Given the description of an element on the screen output the (x, y) to click on. 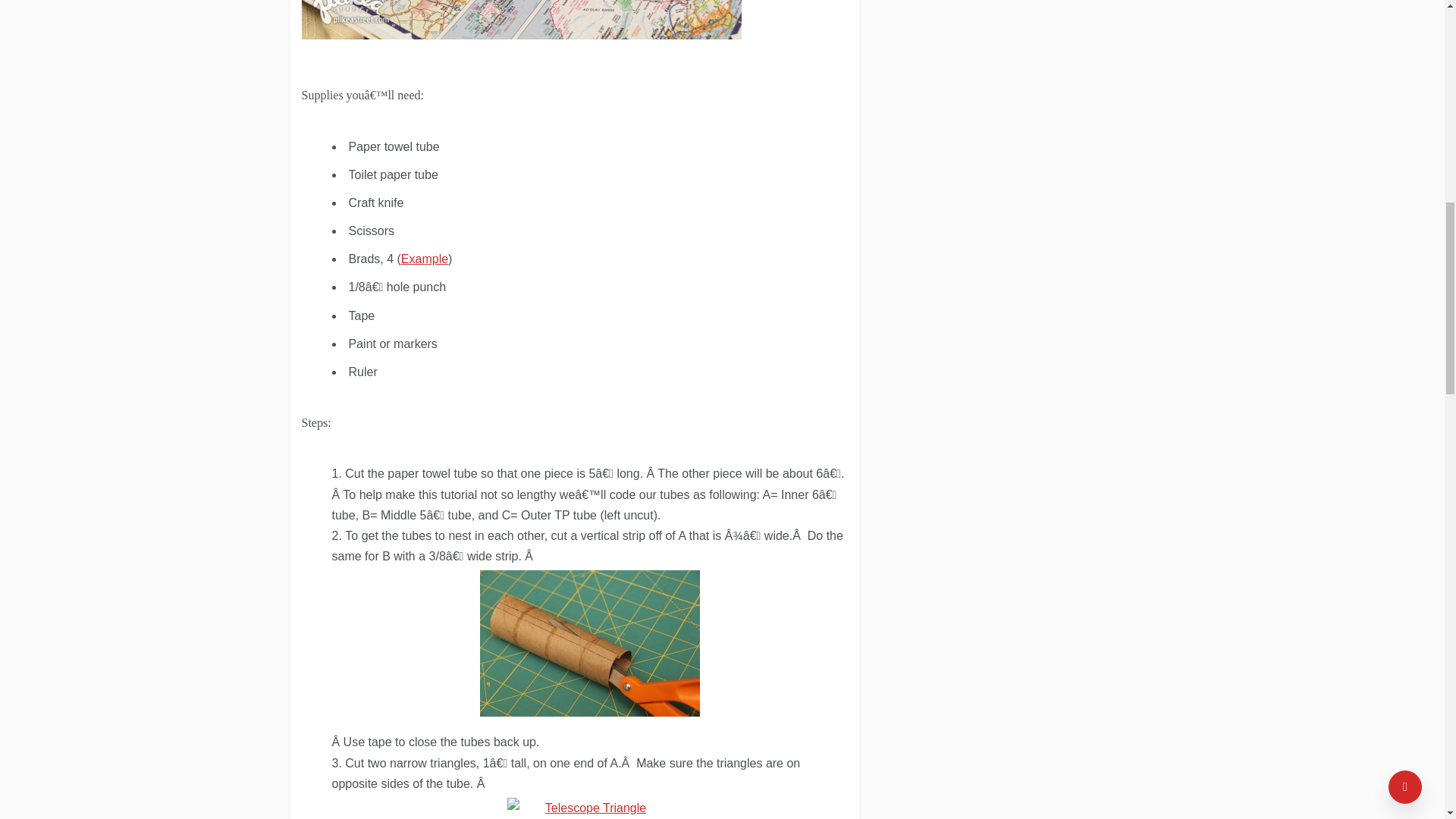
Brads (424, 258)
Example (424, 258)
Telescope-main (521, 19)
Telescope-cut (588, 641)
Telescope-triangle (588, 806)
